Given the description of an element on the screen output the (x, y) to click on. 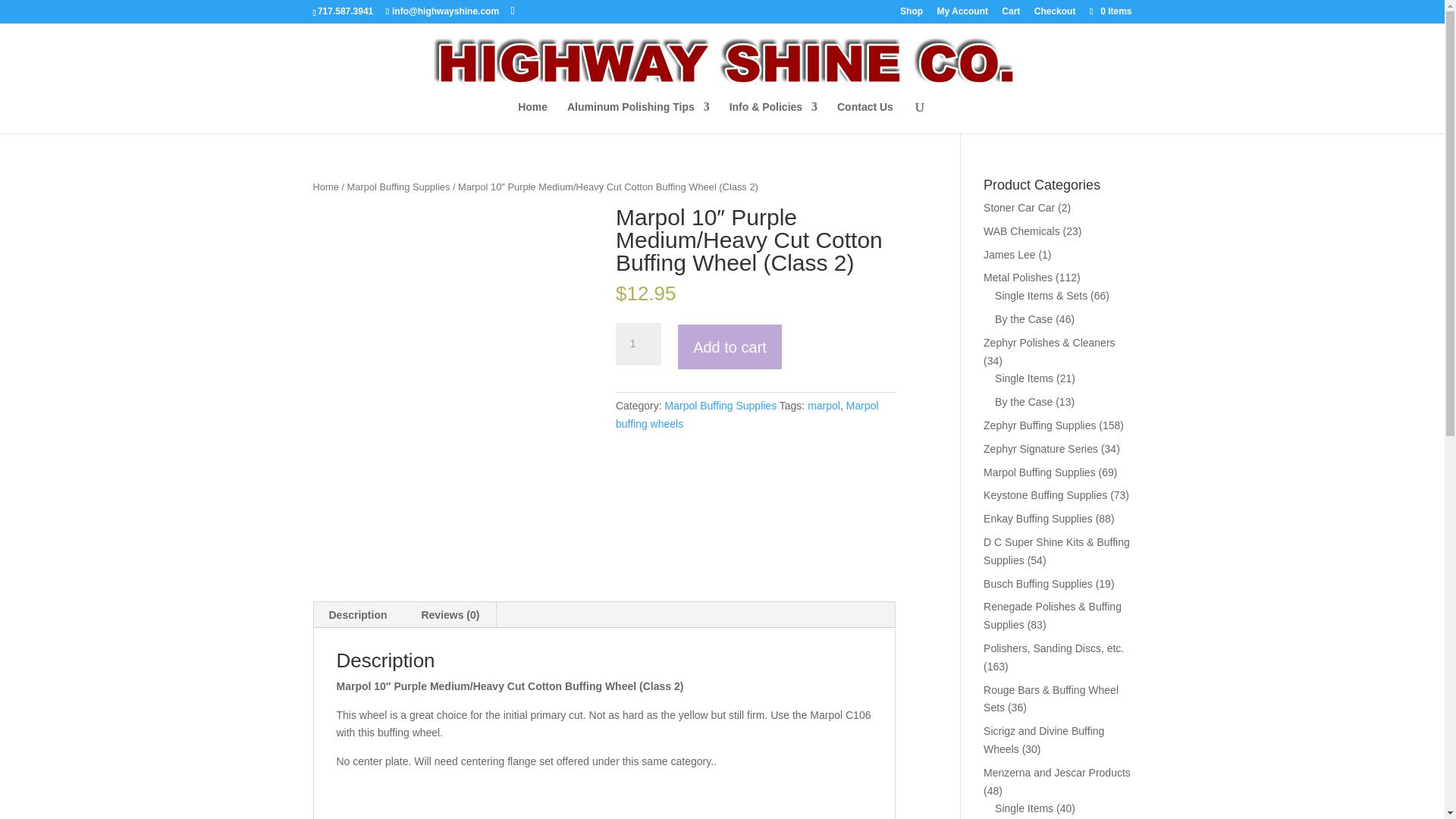
Add to cart (730, 346)
Aluminum Polishing Tips (638, 117)
Stoner Car Car (1019, 207)
Cart (1010, 14)
Marpol Buffing Supplies (398, 186)
WAB Chemicals (1021, 231)
Checkout (1054, 14)
James Lee (1009, 254)
1 (638, 343)
Metal Polishes (1018, 277)
